Given the description of an element on the screen output the (x, y) to click on. 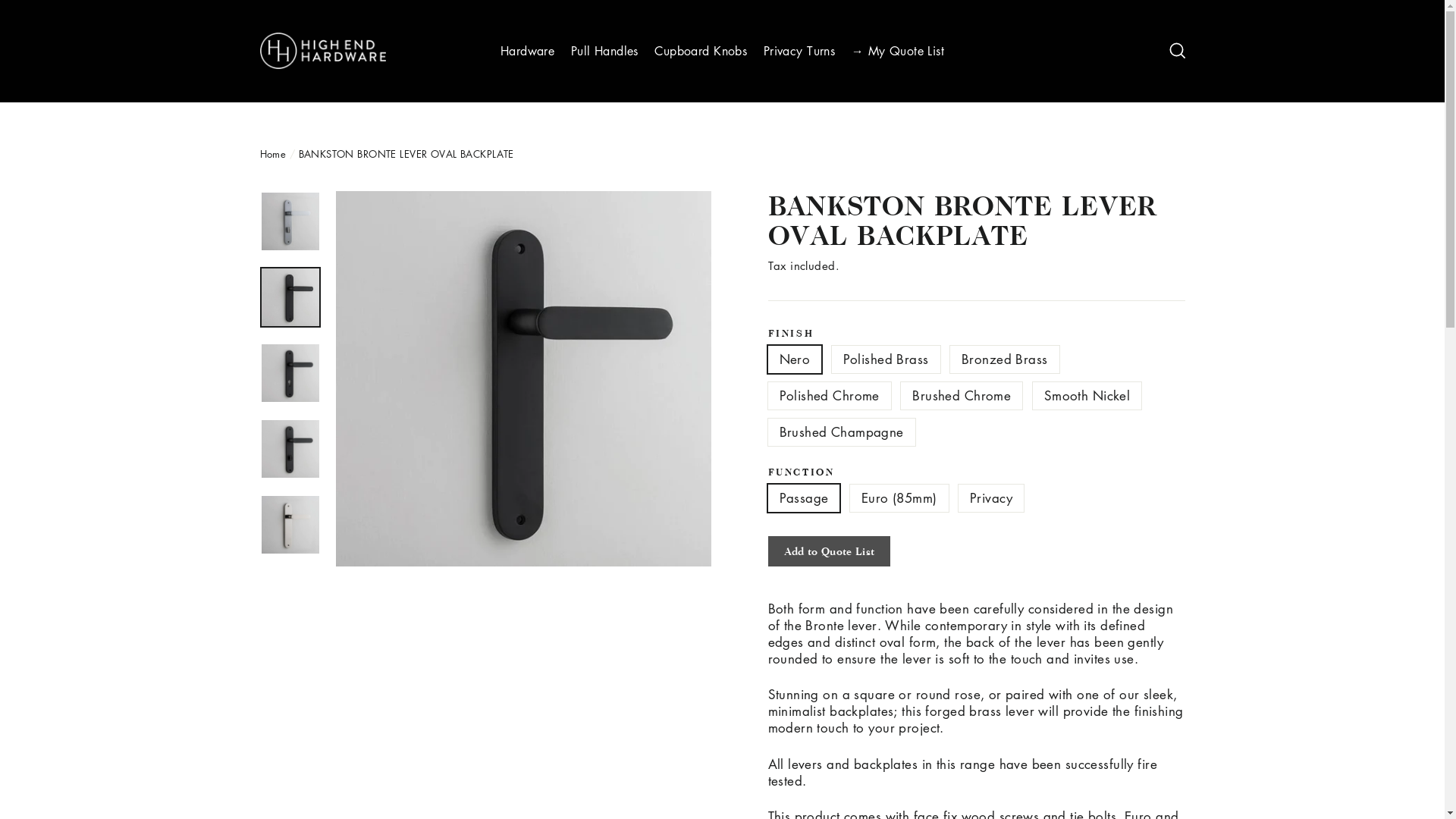
Cupboard Knobs Element type: text (700, 51)
Home Element type: text (272, 153)
Hardware Element type: text (527, 51)
Pull Handles Element type: text (604, 51)
Privacy Turns Element type: text (799, 51)
Skip to content Element type: text (0, 0)
Add to Quote List Element type: text (828, 551)
Search Element type: text (1176, 50)
